Given the description of an element on the screen output the (x, y) to click on. 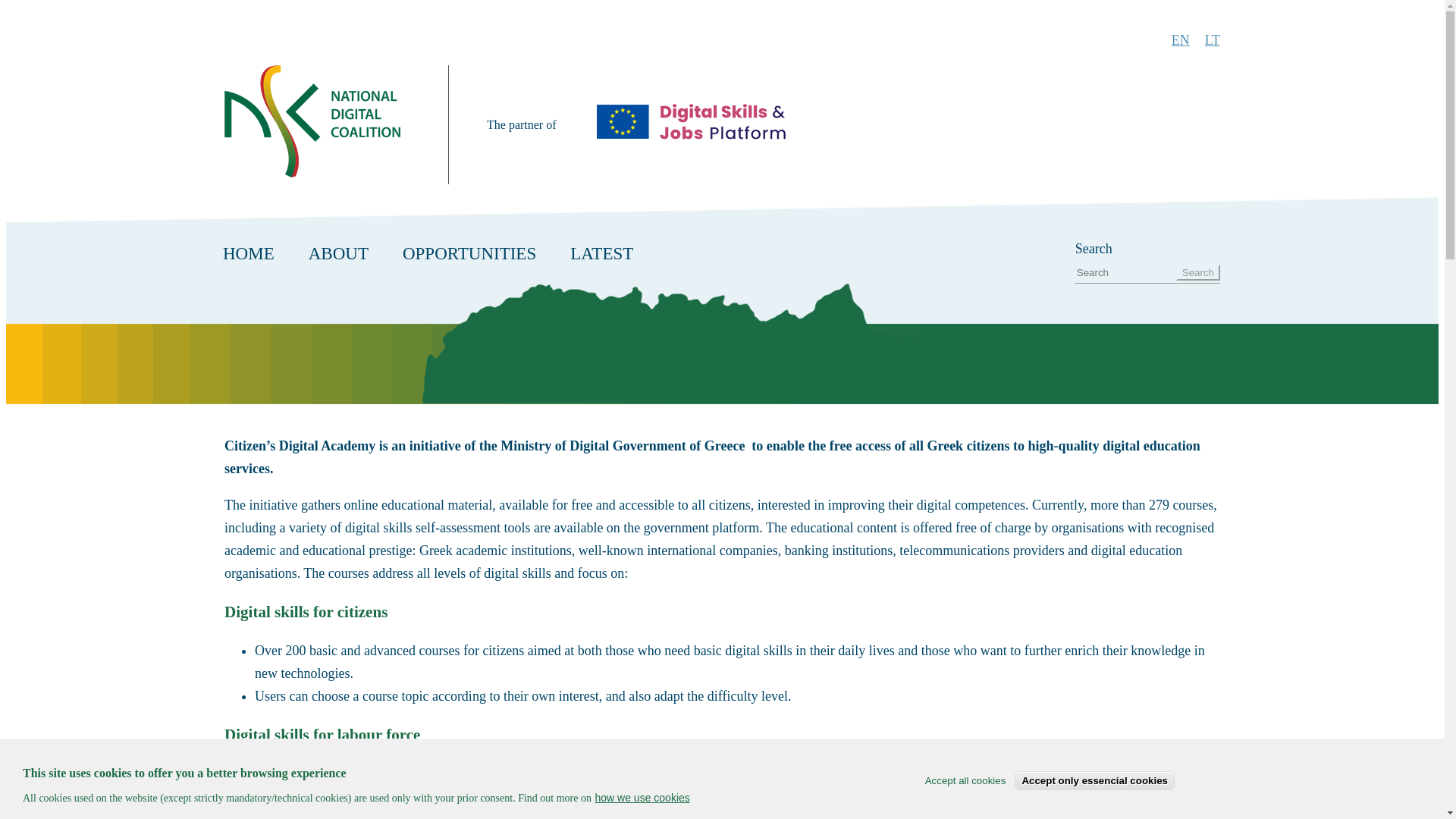
how we use cookies (641, 797)
Search (1198, 272)
EN (1180, 39)
HOME (252, 253)
Enter the terms you wish to search for. (1125, 272)
LT (1212, 39)
